Given the description of an element on the screen output the (x, y) to click on. 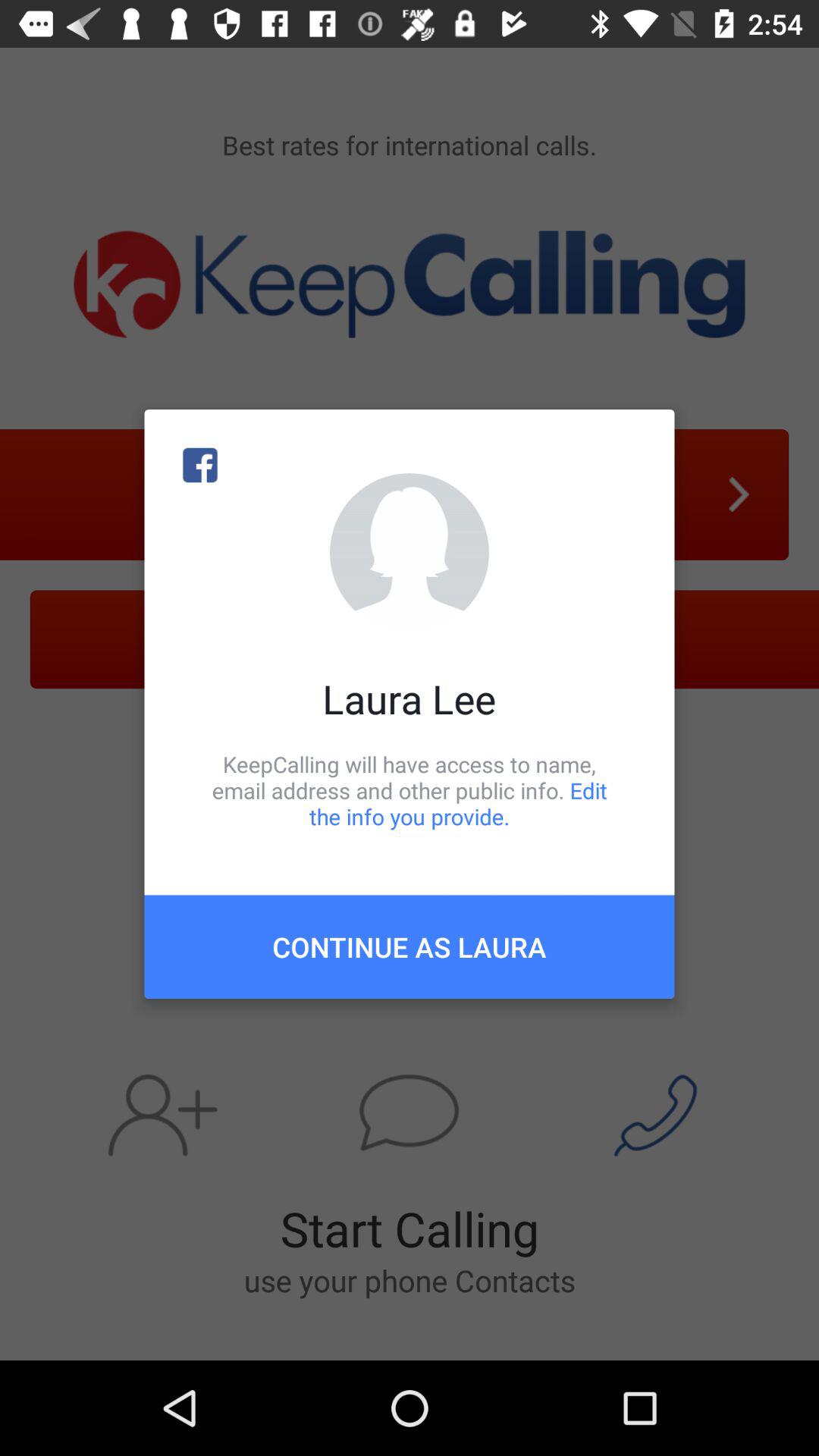
launch the item above continue as laura (409, 790)
